Given the description of an element on the screen output the (x, y) to click on. 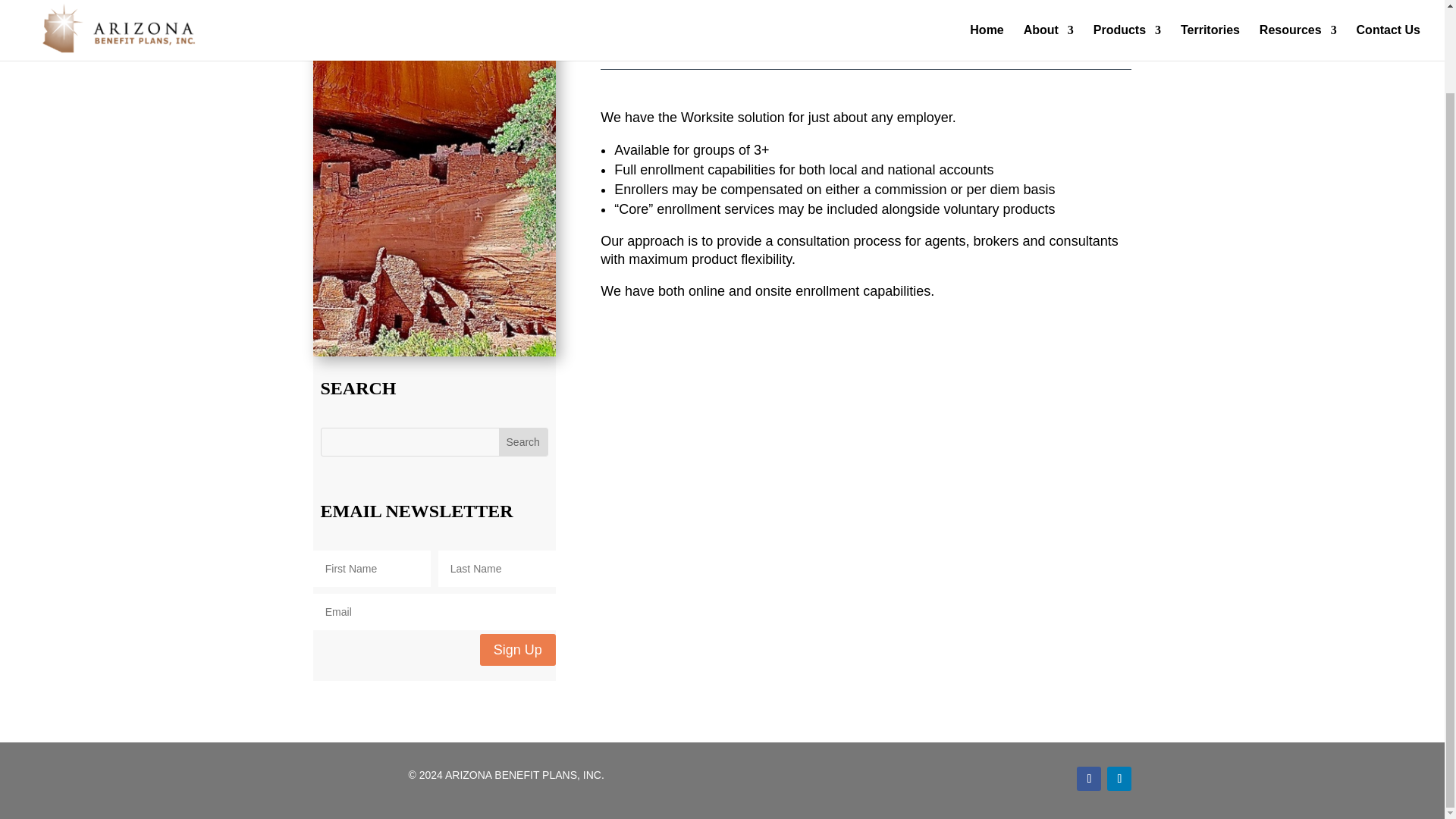
Sign Up (518, 649)
Search (523, 441)
Search (523, 441)
Follow on Facebook (1088, 778)
Search (523, 441)
Follow on LinkedIn (1118, 778)
